Given the description of an element on the screen output the (x, y) to click on. 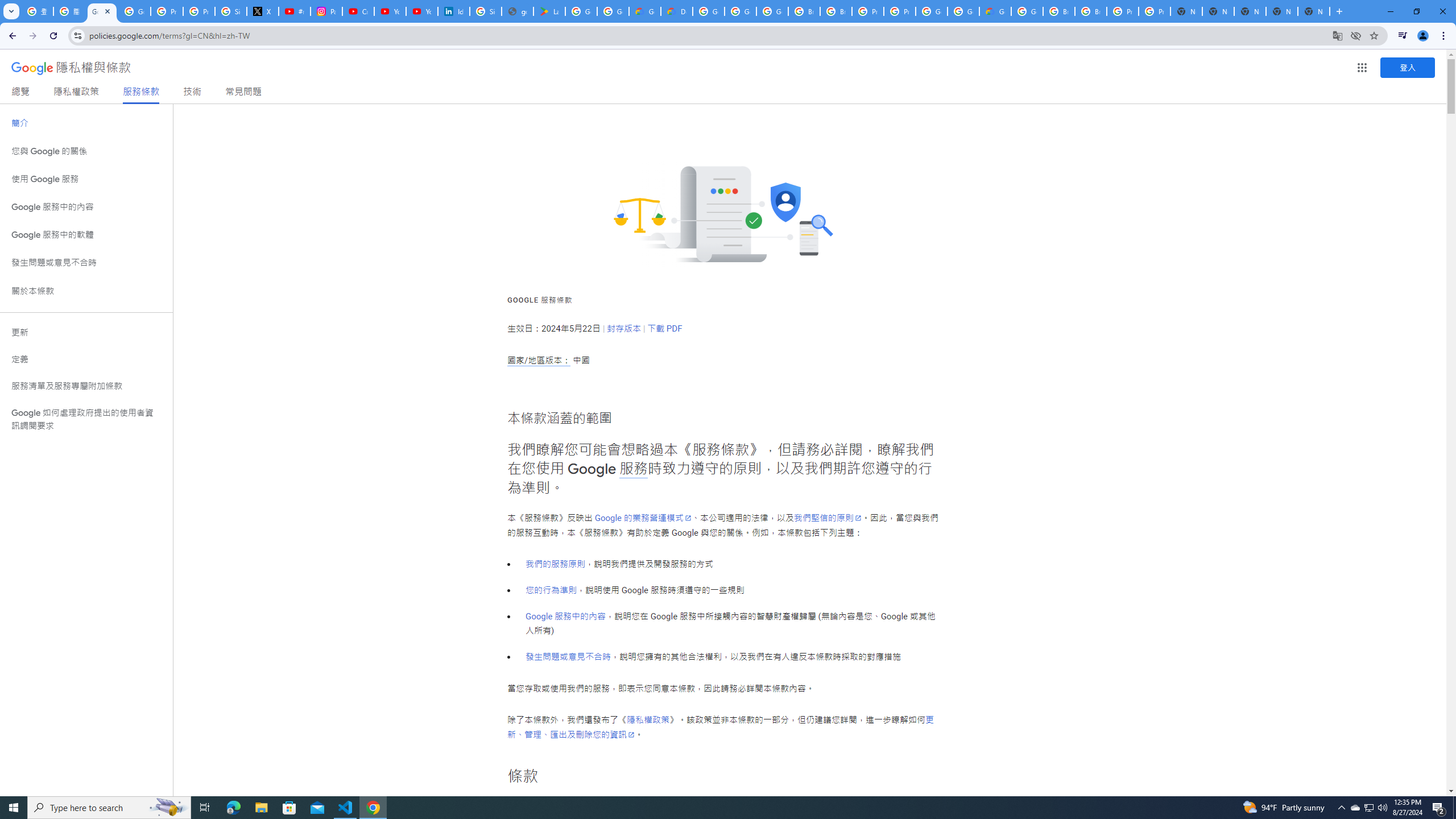
Google Cloud Platform (708, 11)
YouTube Culture & Trends - YouTube Top 10, 2021 (421, 11)
Privacy Help Center - Policies Help (198, 11)
